Given the description of an element on the screen output the (x, y) to click on. 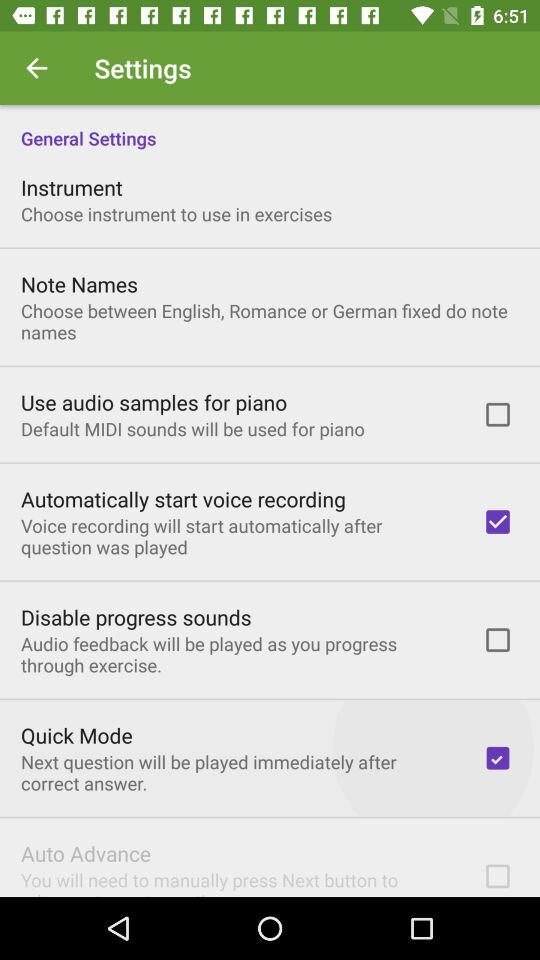
open icon below the choose between english icon (154, 402)
